Given the description of an element on the screen output the (x, y) to click on. 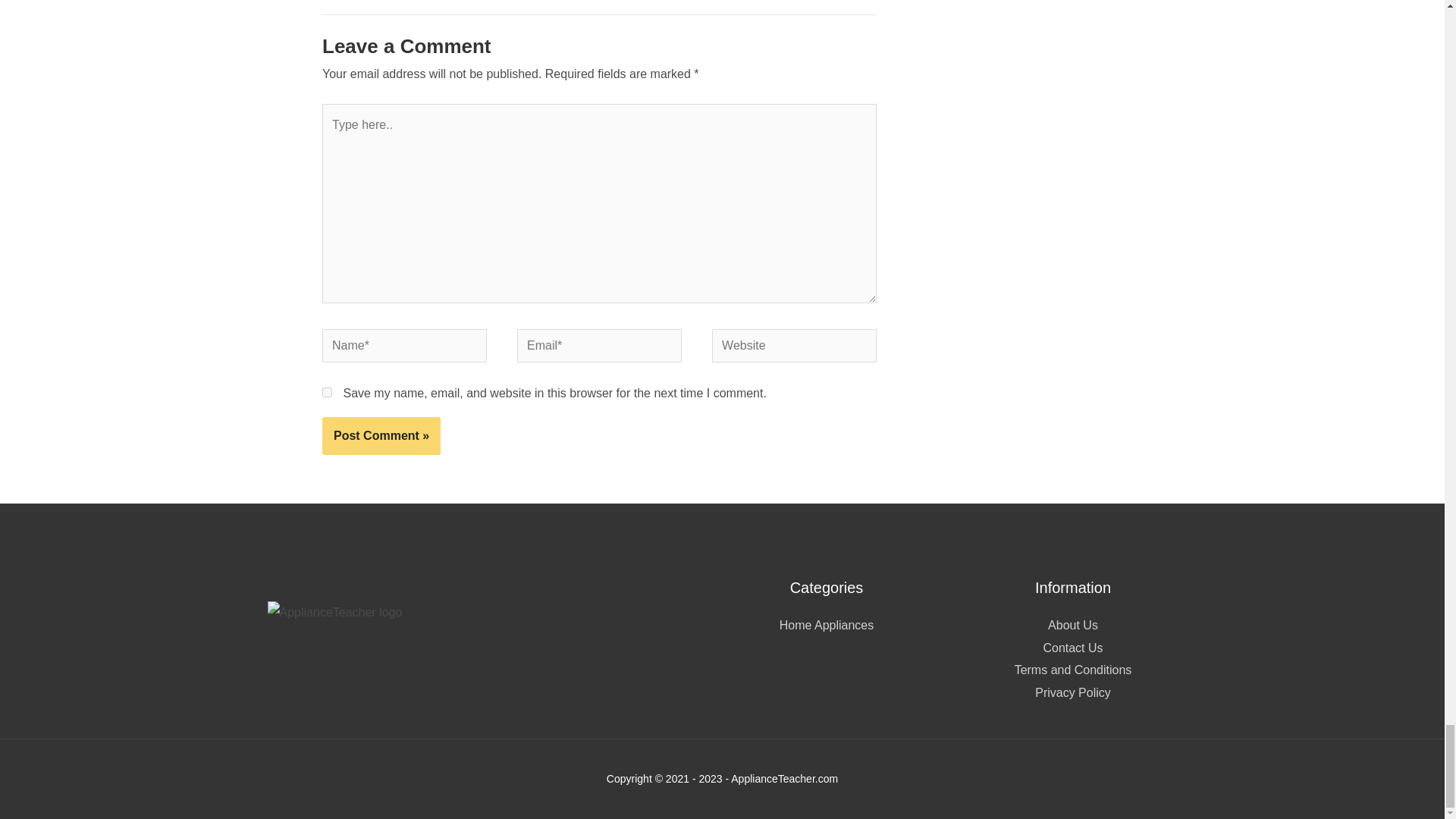
yes (326, 392)
